Given the description of an element on the screen output the (x, y) to click on. 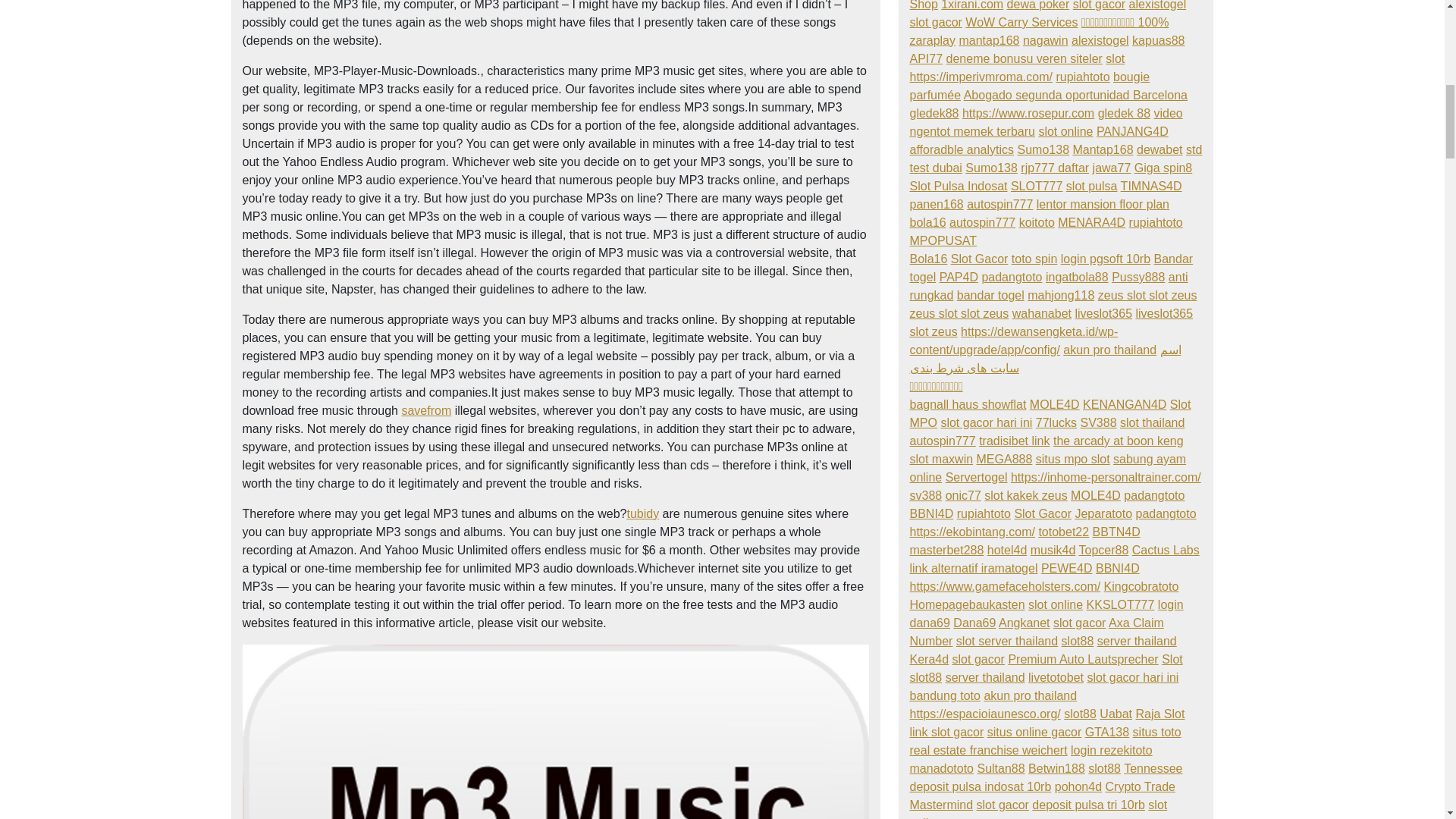
tubidy (642, 513)
savefrom (426, 410)
